Given the description of an element on the screen output the (x, y) to click on. 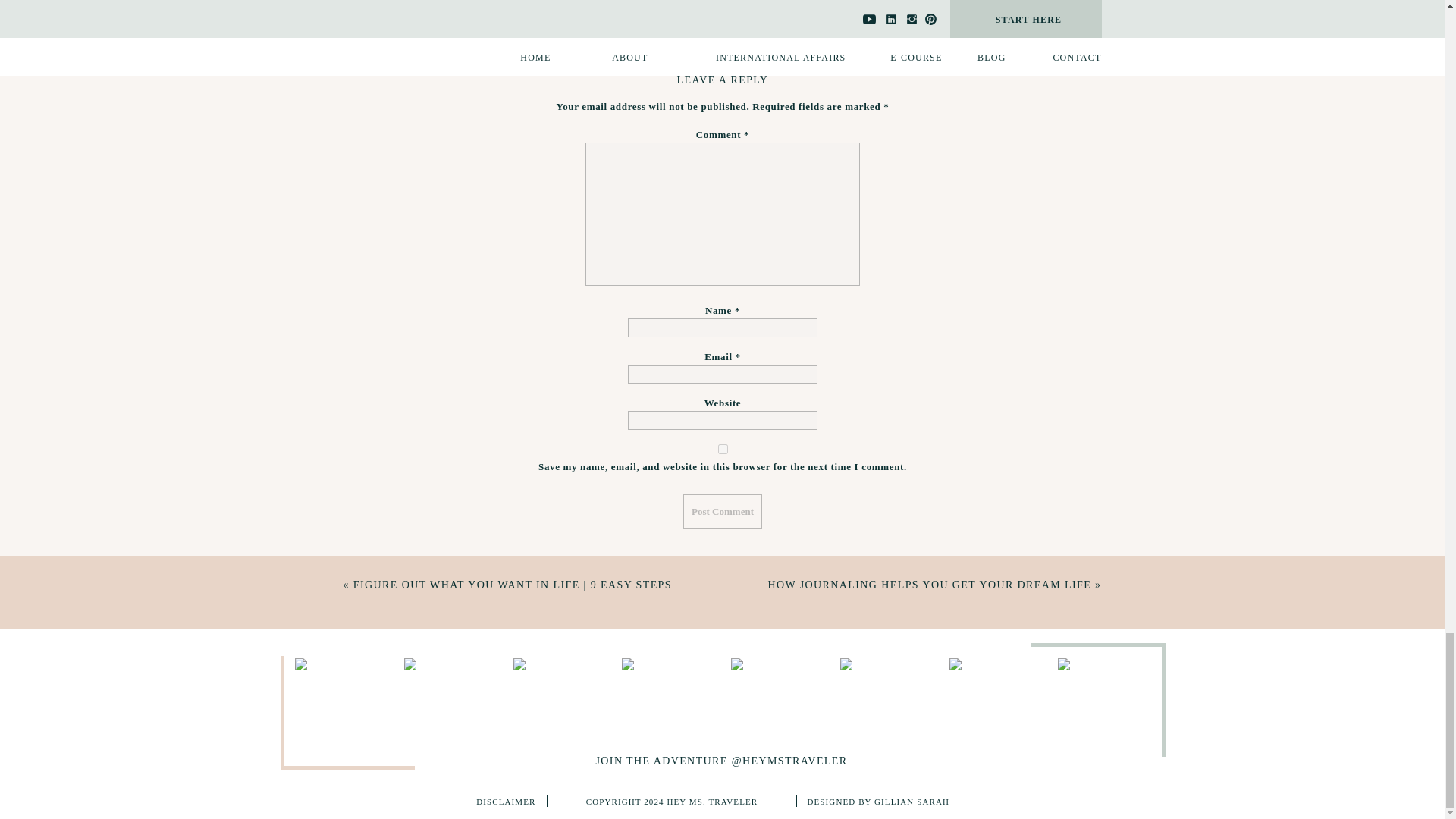
BE THE FIRST TO COMMENT (722, 4)
Post Comment (721, 511)
DISCLAIMER (493, 800)
yes (722, 449)
HOW JOURNALING HELPS YOU GET YOUR DREAM LIFE (928, 584)
Post Comment (721, 511)
DESIGNED BY GILLIAN SARAH (899, 800)
